Given the description of an element on the screen output the (x, y) to click on. 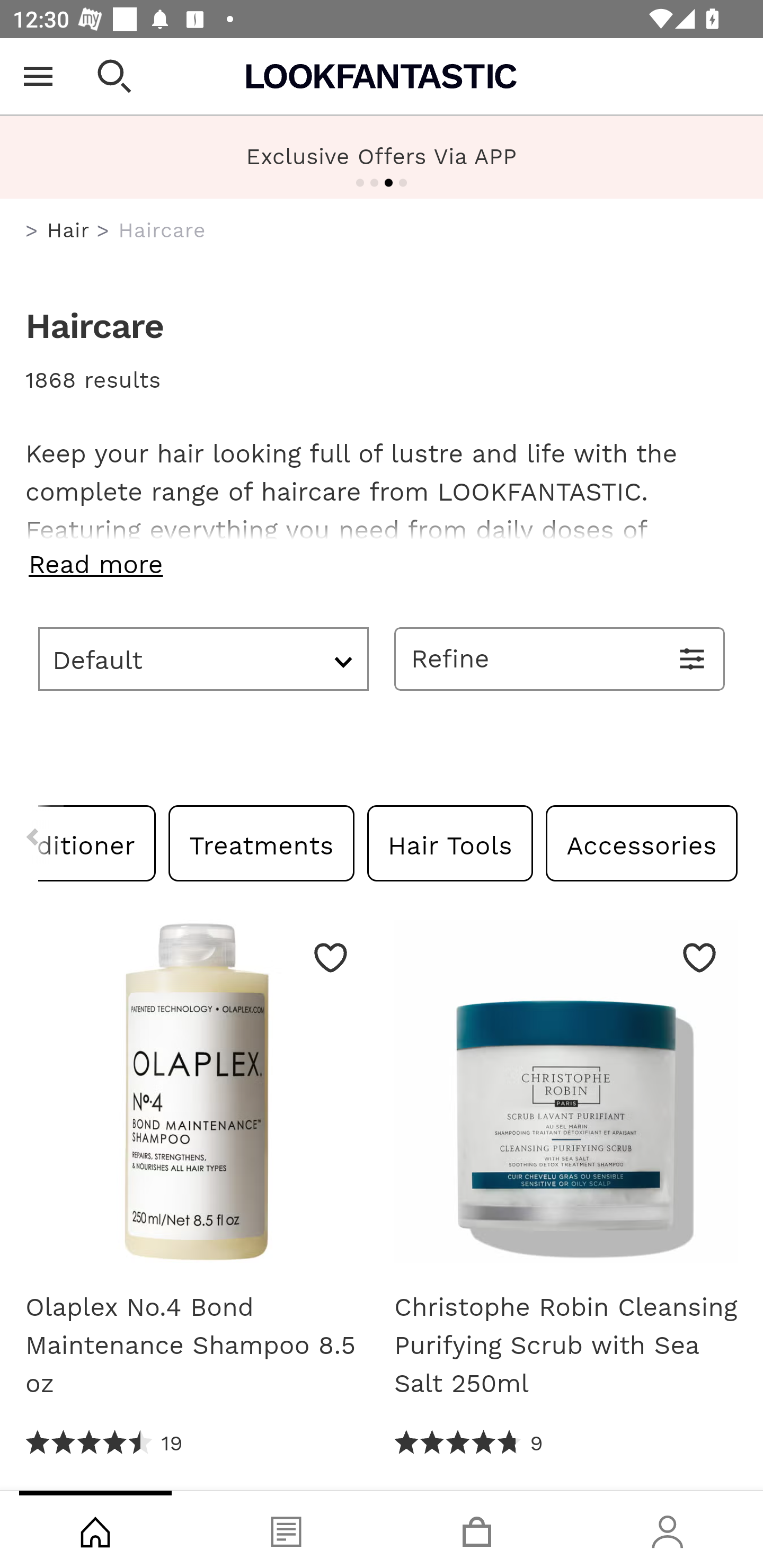
Open Menu (38, 75)
Open search (114, 75)
Lookfantastic USA (381, 75)
us.lookfantastic (32, 230)
Hair (67, 230)
Read more (381, 564)
Default (203, 658)
Refine (559, 658)
Shop Conditioner (97, 842)
Shop Treatments (261, 842)
Shop Hair Tools (449, 842)
Shop Accessories (641, 842)
Olaplex No.4 Bond Maintenance Shampoo 8.5 oz (196, 1097)
Save to Wishlist (330, 957)
Save to Wishlist (698, 957)
Olaplex No.4 Bond Maintenance Shampoo 8.5 oz (196, 1344)
4.53 Stars 19 Reviews (104, 1442)
4.78 Stars 9 Reviews (468, 1442)
Shop, tab, 1 of 4 (95, 1529)
Blog, tab, 2 of 4 (285, 1529)
Basket, tab, 3 of 4 (476, 1529)
Account, tab, 4 of 4 (667, 1529)
